Given the description of an element on the screen output the (x, y) to click on. 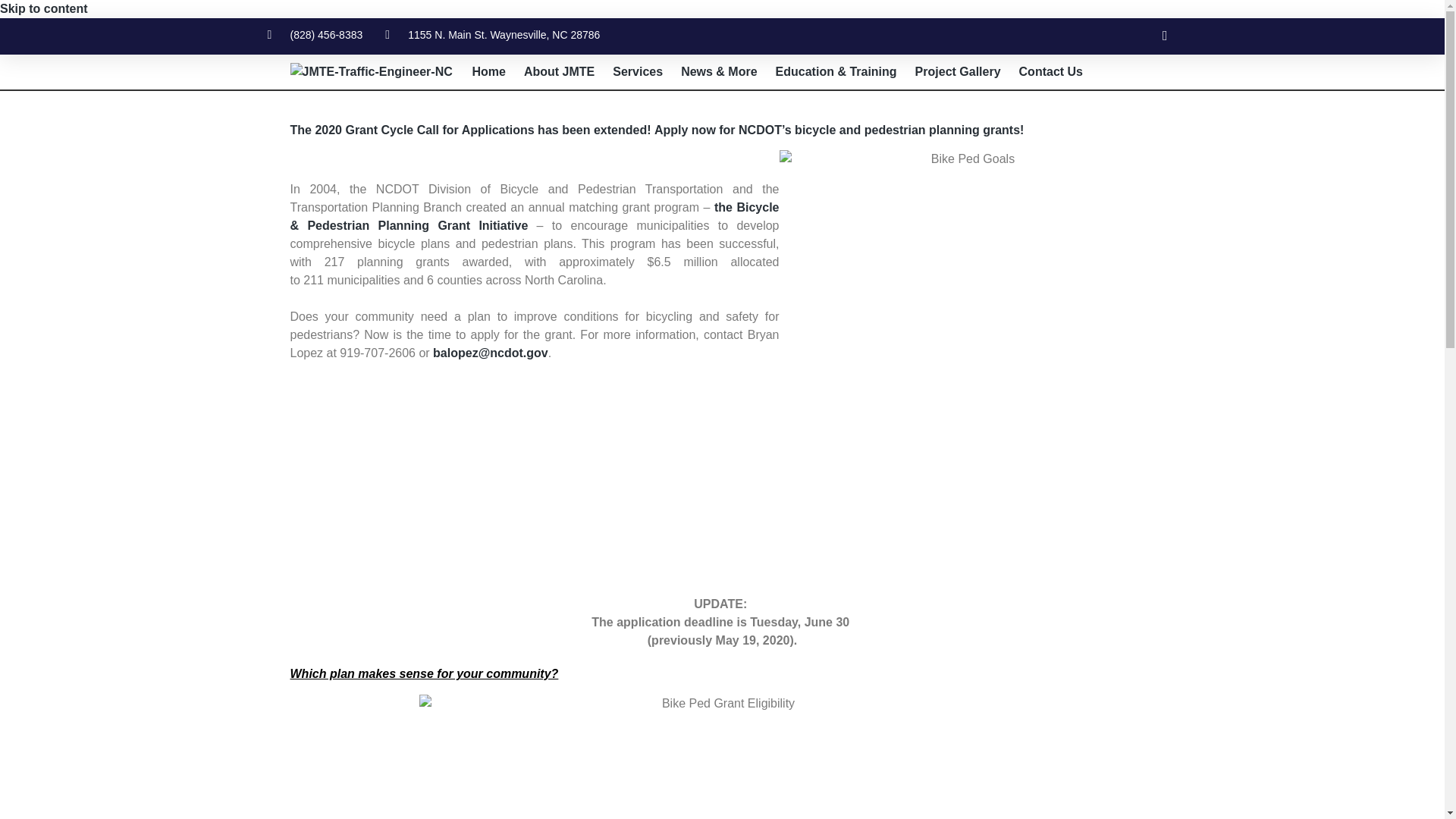
Home (488, 71)
JMTE-Traffic-Engineer-NC (370, 72)
Skip to content (43, 8)
Project Gallery (957, 71)
About JMTE (559, 71)
Services (637, 71)
Contact Us (1051, 71)
